Given the description of an element on the screen output the (x, y) to click on. 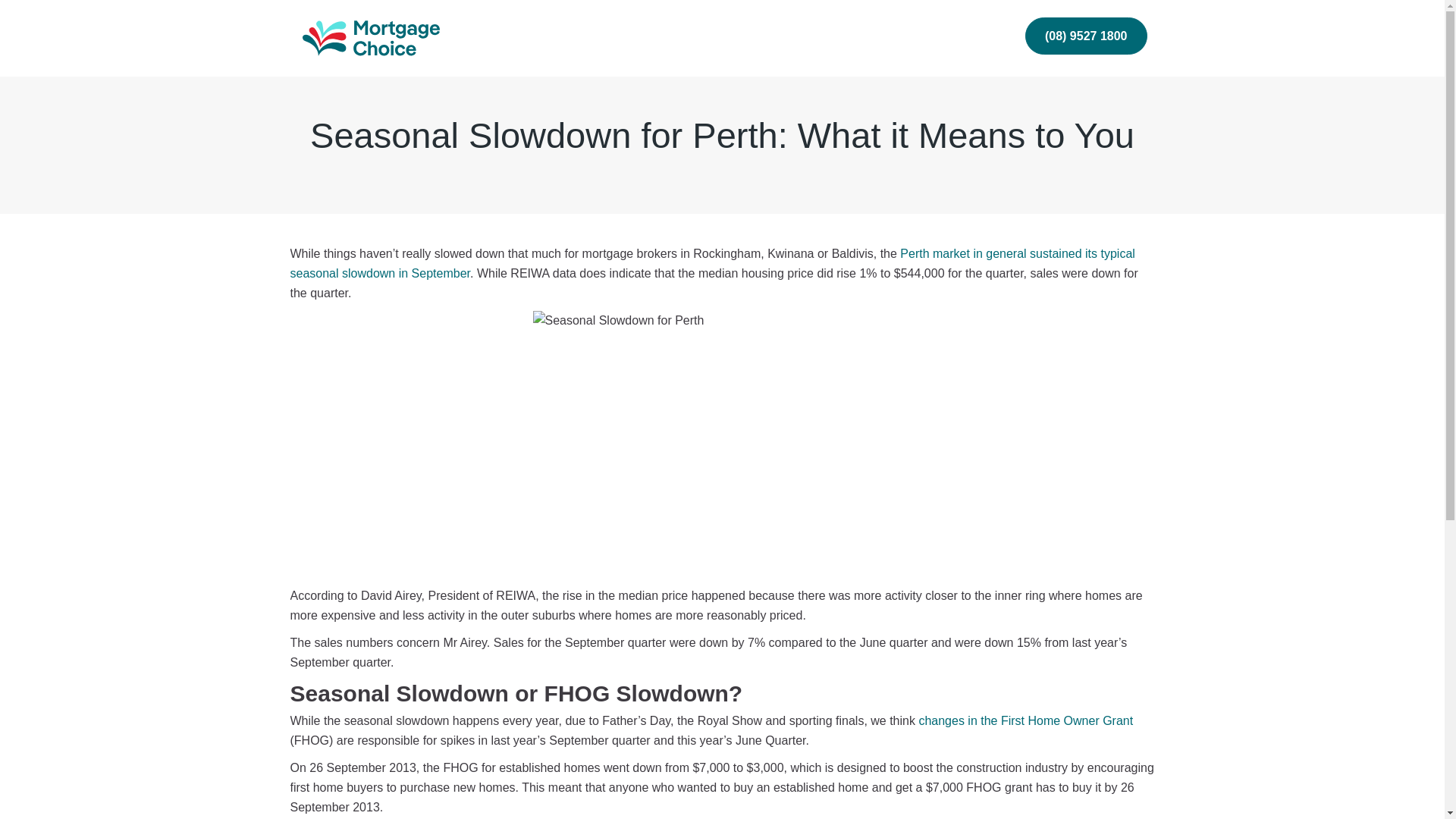
MORTGAGE CHOICE ROCKINGHAM (362, 28)
changes in the First Home Owner Grant (1025, 720)
Changes In The First Home Owner Grant (1025, 720)
